Given the description of an element on the screen output the (x, y) to click on. 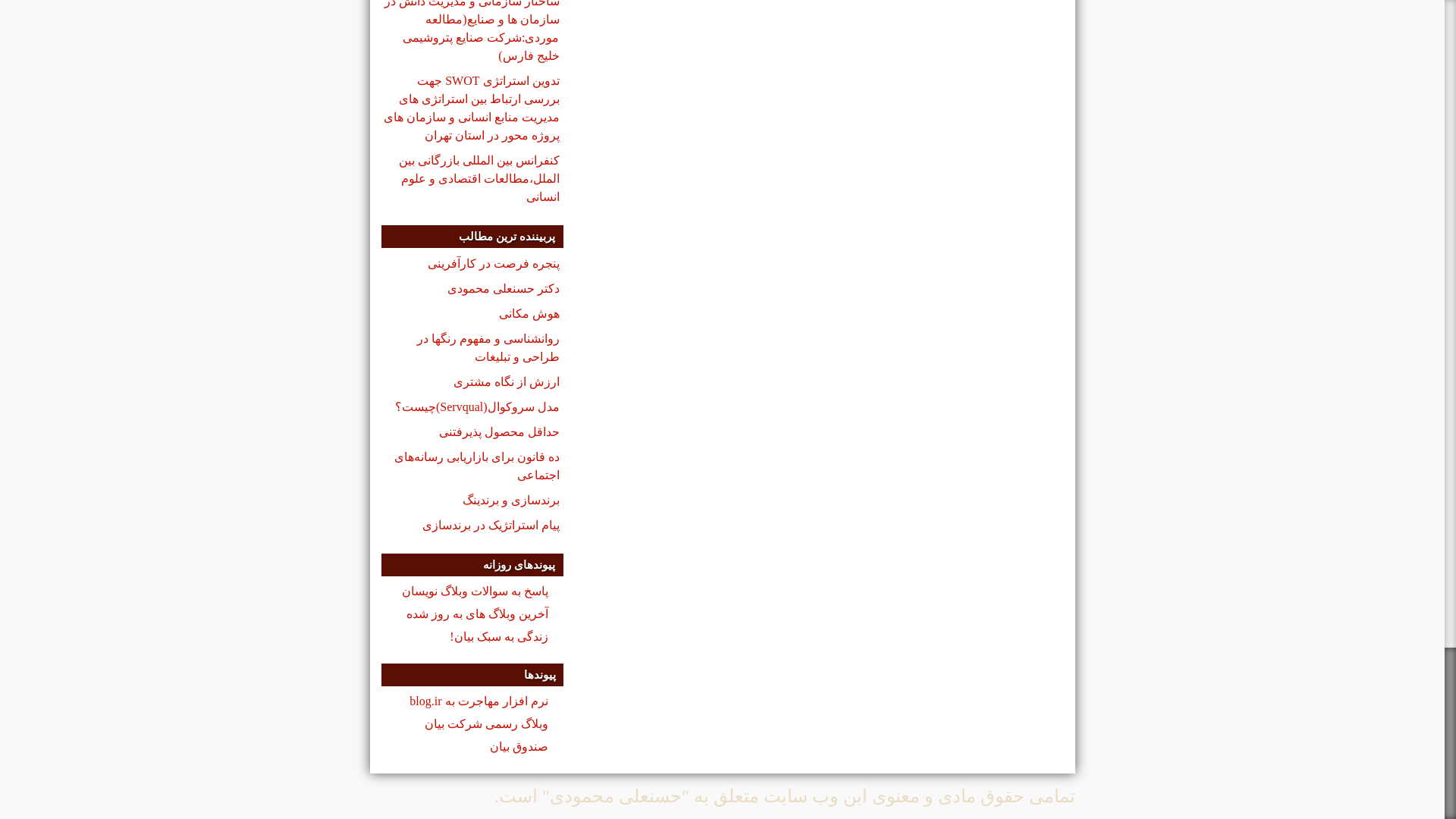
RSS (377, 796)
